Given the description of an element on the screen output the (x, y) to click on. 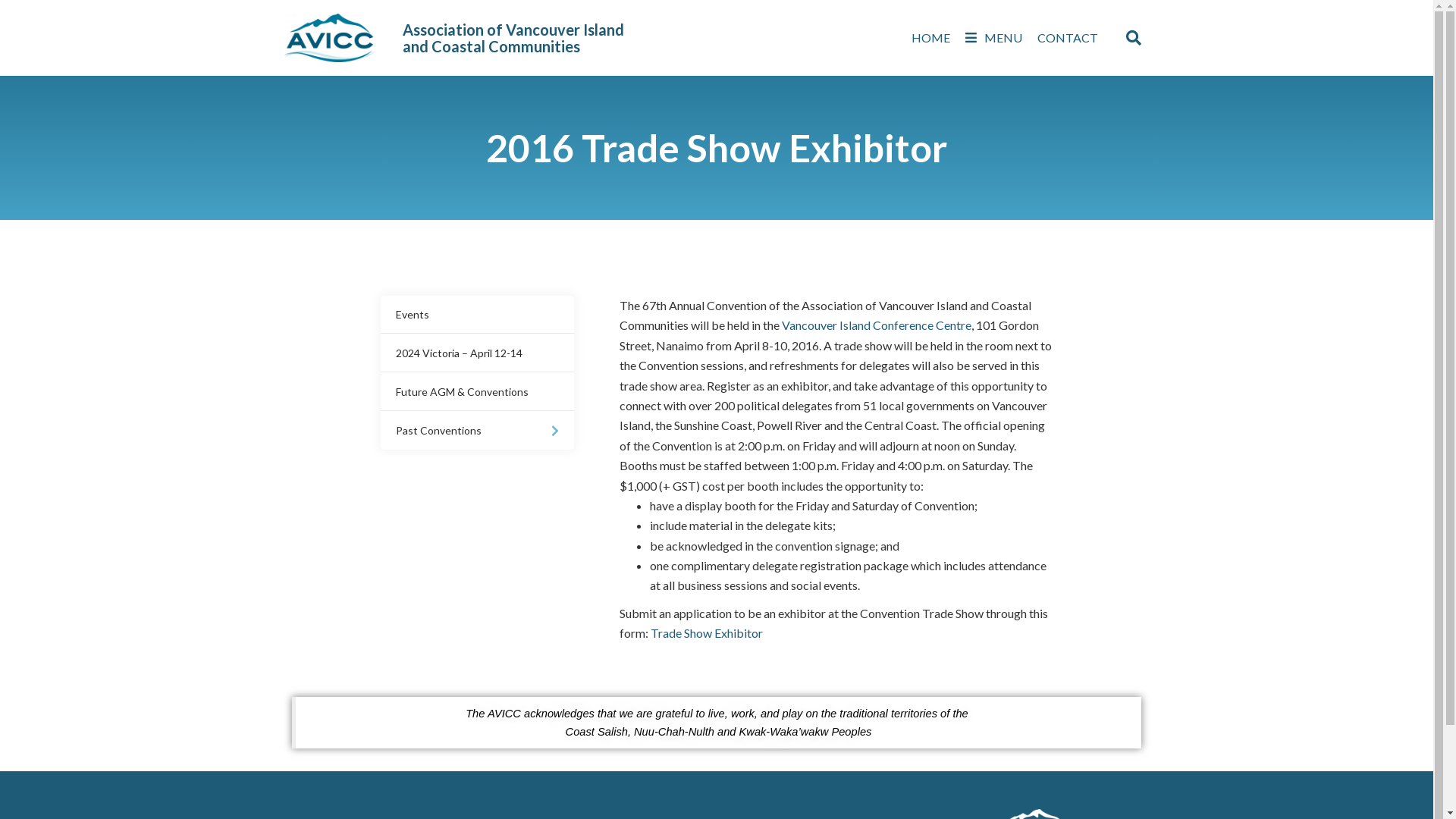
HOME Element type: text (930, 37)
Trade Show Exhibitor Element type: text (706, 632)
MENU Element type: text (993, 37)
logo Element type: hover (329, 37)
Association of Vancouver Island and Coastal Communities Element type: text (513, 37)
Past Conventions Element type: text (477, 429)
CONTACT Element type: text (1067, 37)
Vancouver Island Conference Centre Element type: text (876, 324)
Future AGM & Conventions Element type: text (477, 392)
Events Element type: text (477, 314)
